Given the description of an element on the screen output the (x, y) to click on. 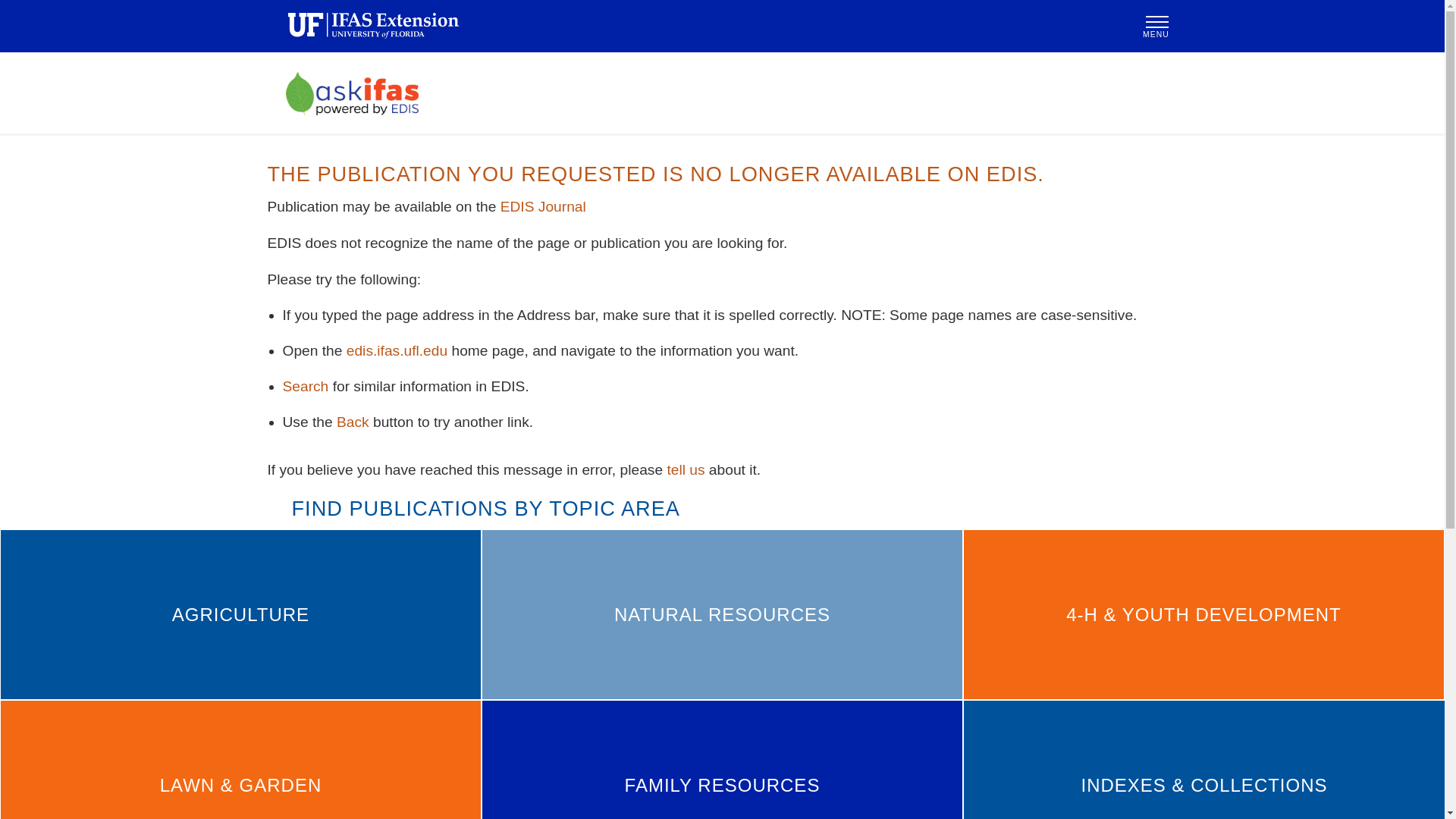
edis.ifas.ufl.edu (396, 350)
FAMILY RESOURCES (721, 760)
Search (305, 385)
AskIFAS Powered by EDIS (721, 94)
tell us (685, 469)
Back (352, 421)
AGRICULTURE (240, 614)
EDIS Journal (543, 206)
NATURAL RESOURCES (721, 614)
